Given the description of an element on the screen output the (x, y) to click on. 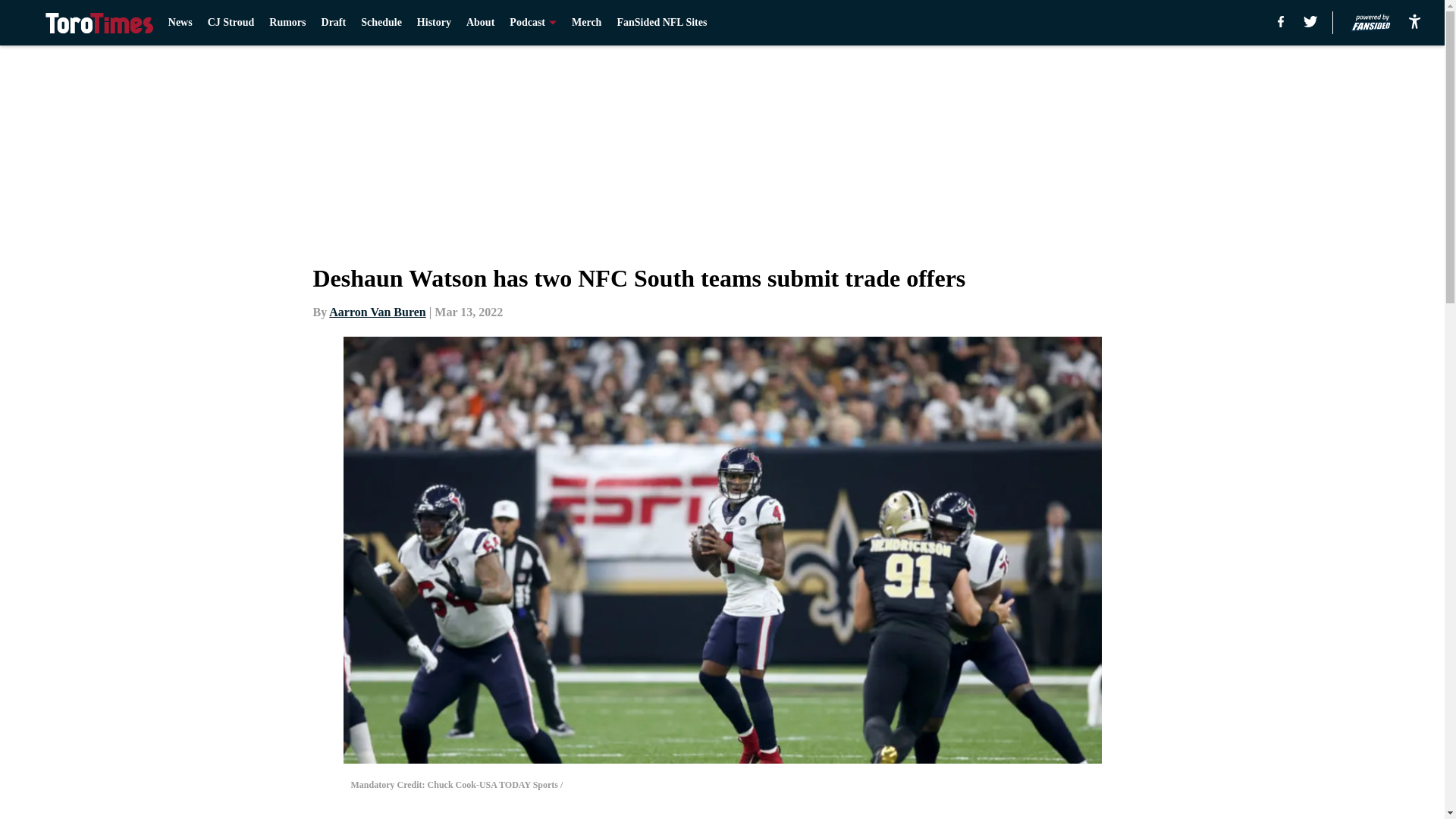
News (180, 22)
Schedule (381, 22)
Draft (333, 22)
FanSided NFL Sites (660, 22)
About (480, 22)
History (433, 22)
Rumors (287, 22)
Merch (586, 22)
CJ Stroud (231, 22)
